Given the description of an element on the screen output the (x, y) to click on. 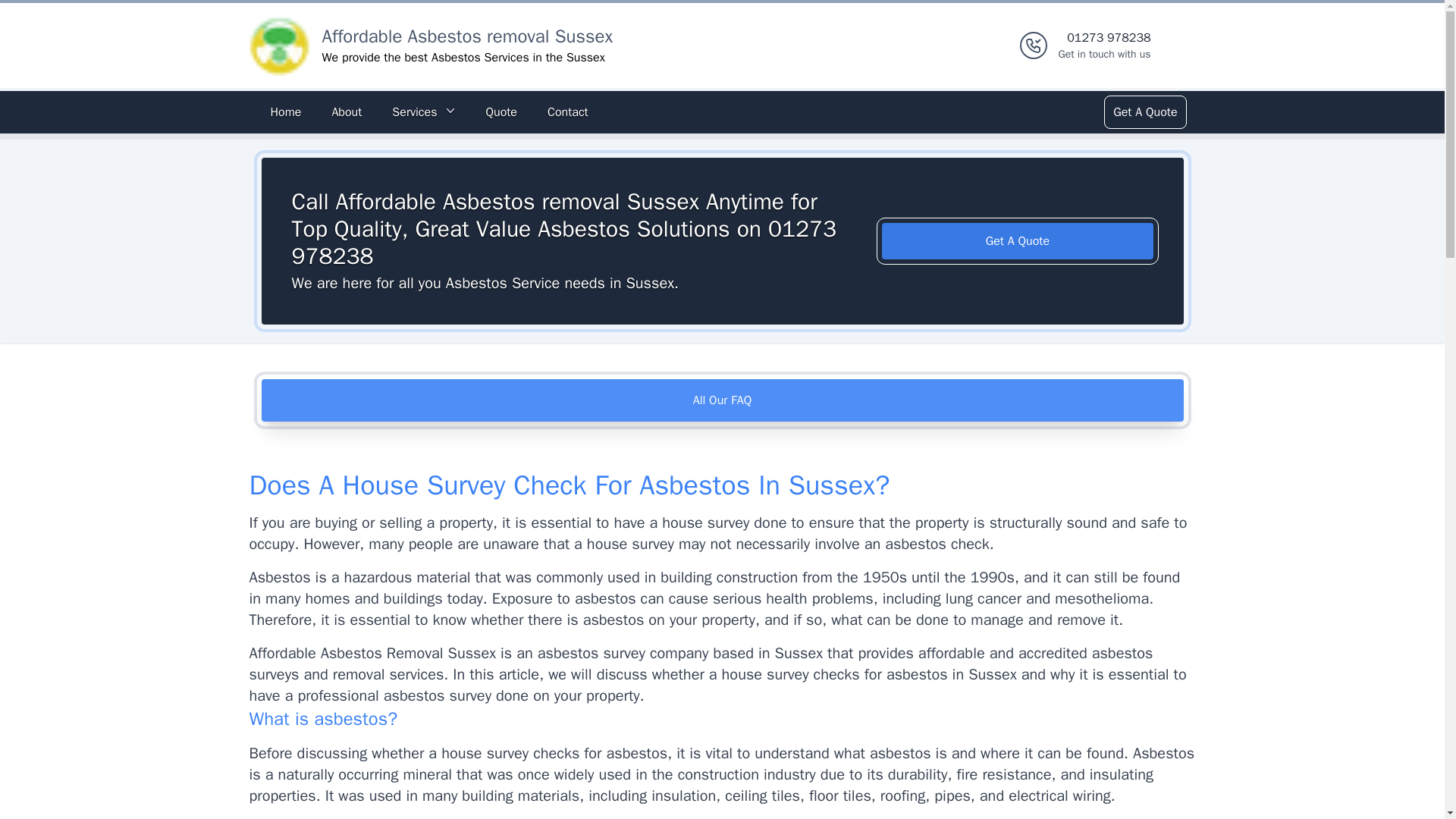
Logo (278, 45)
Quote (500, 112)
Get A Quote (1144, 112)
Services (423, 112)
Home (285, 112)
About (346, 112)
Get A Quote (1104, 45)
Affordable Asbestos removal Sussex (1017, 240)
Contact (466, 36)
